Given the description of an element on the screen output the (x, y) to click on. 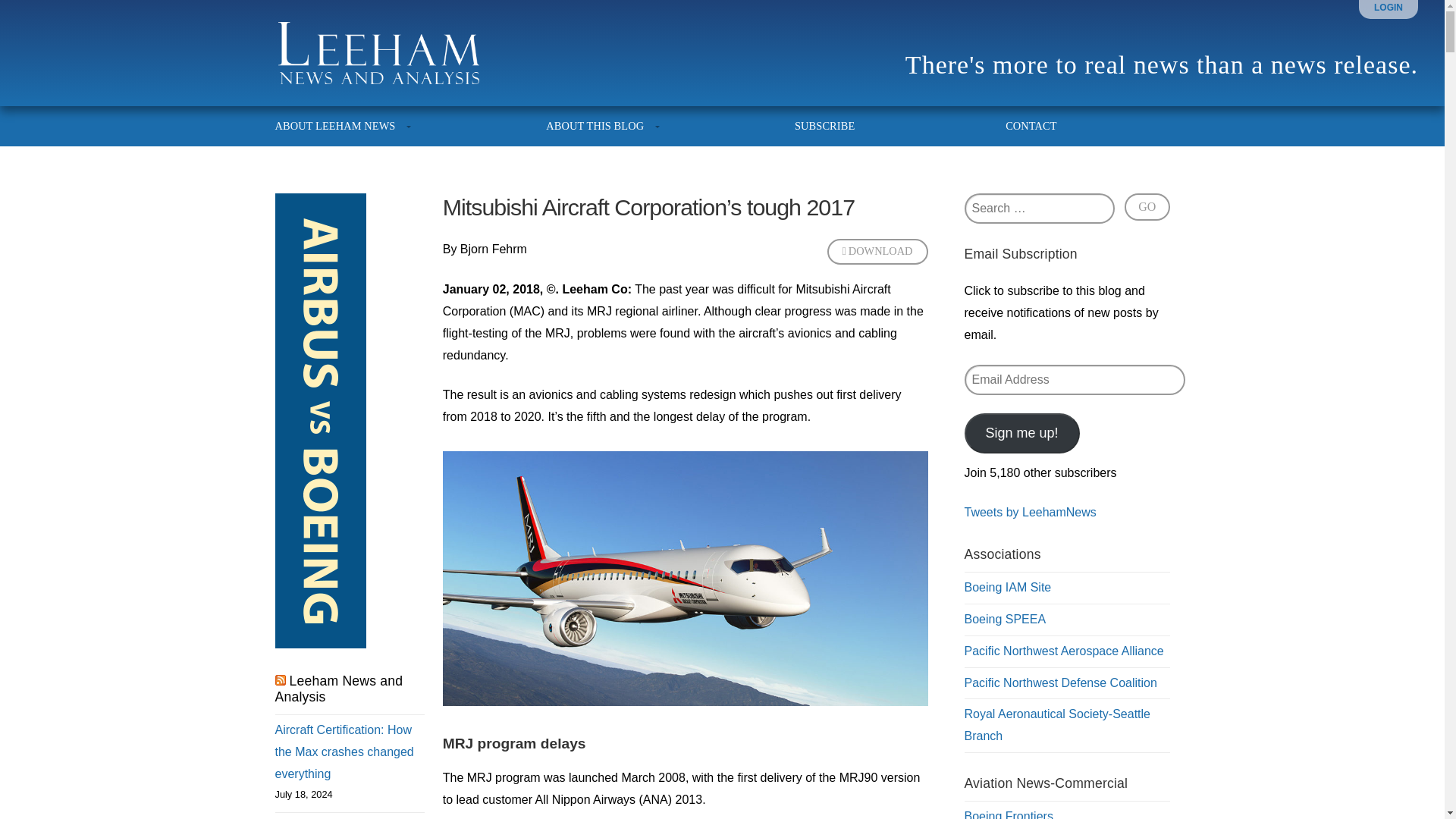
LOGIN (1388, 7)
CONTACT (1022, 126)
DOWNLOAD (877, 251)
Go (1147, 206)
SUBSCRIBE (824, 126)
ABOUT THIS BLOG (594, 126)
Leeham News and Analysis (339, 688)
ABOUT LEEHAM NEWS (344, 126)
